Given the description of an element on the screen output the (x, y) to click on. 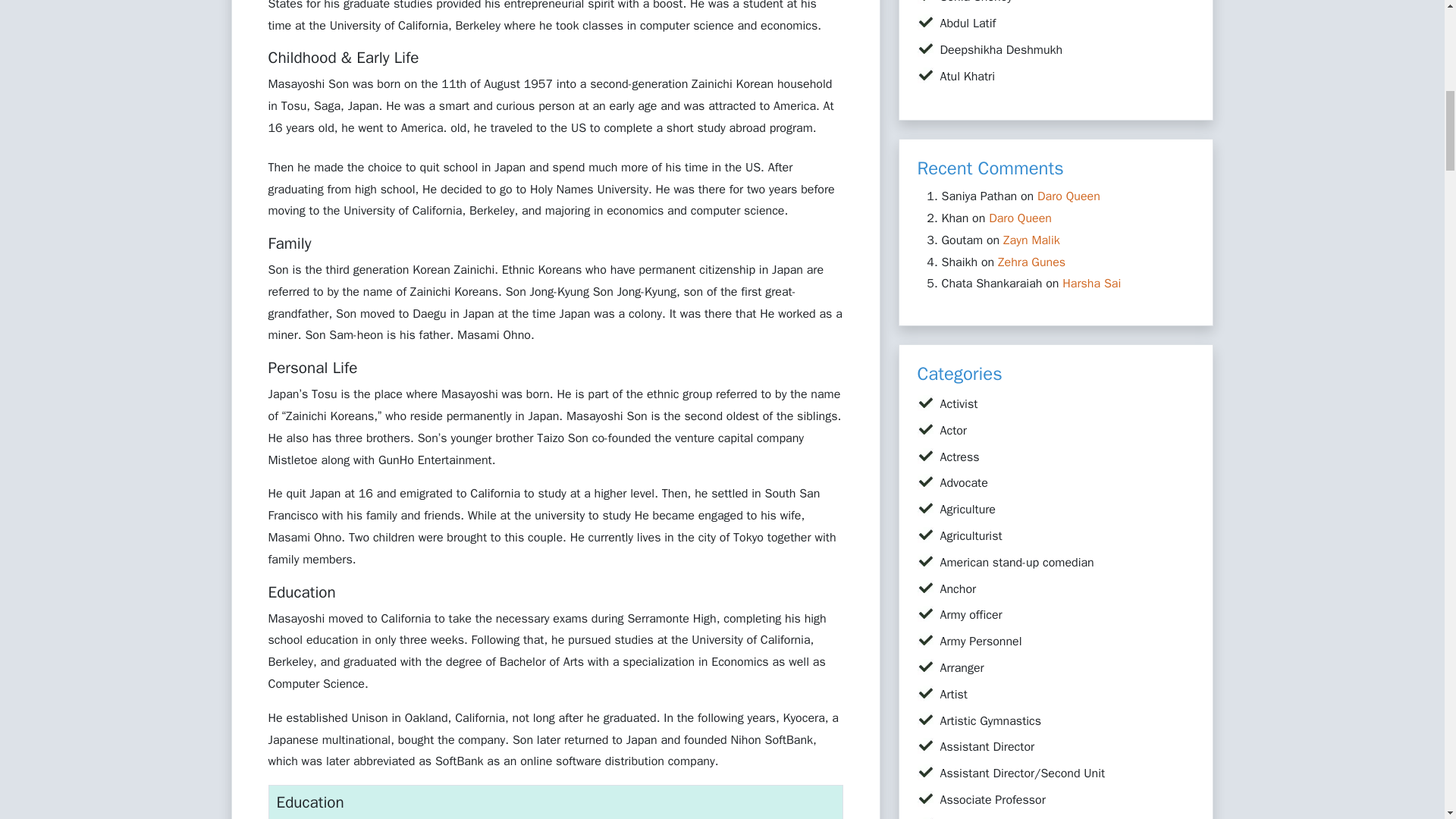
Sonia Shenoy (976, 2)
Advocate (964, 482)
Actor (953, 430)
Actress (959, 457)
Arranger (962, 667)
Anchor (958, 589)
Zayn Malik (1031, 240)
Atul Khatri (967, 76)
Daro Queen (1019, 218)
Daro Queen (1068, 196)
